Given the description of an element on the screen output the (x, y) to click on. 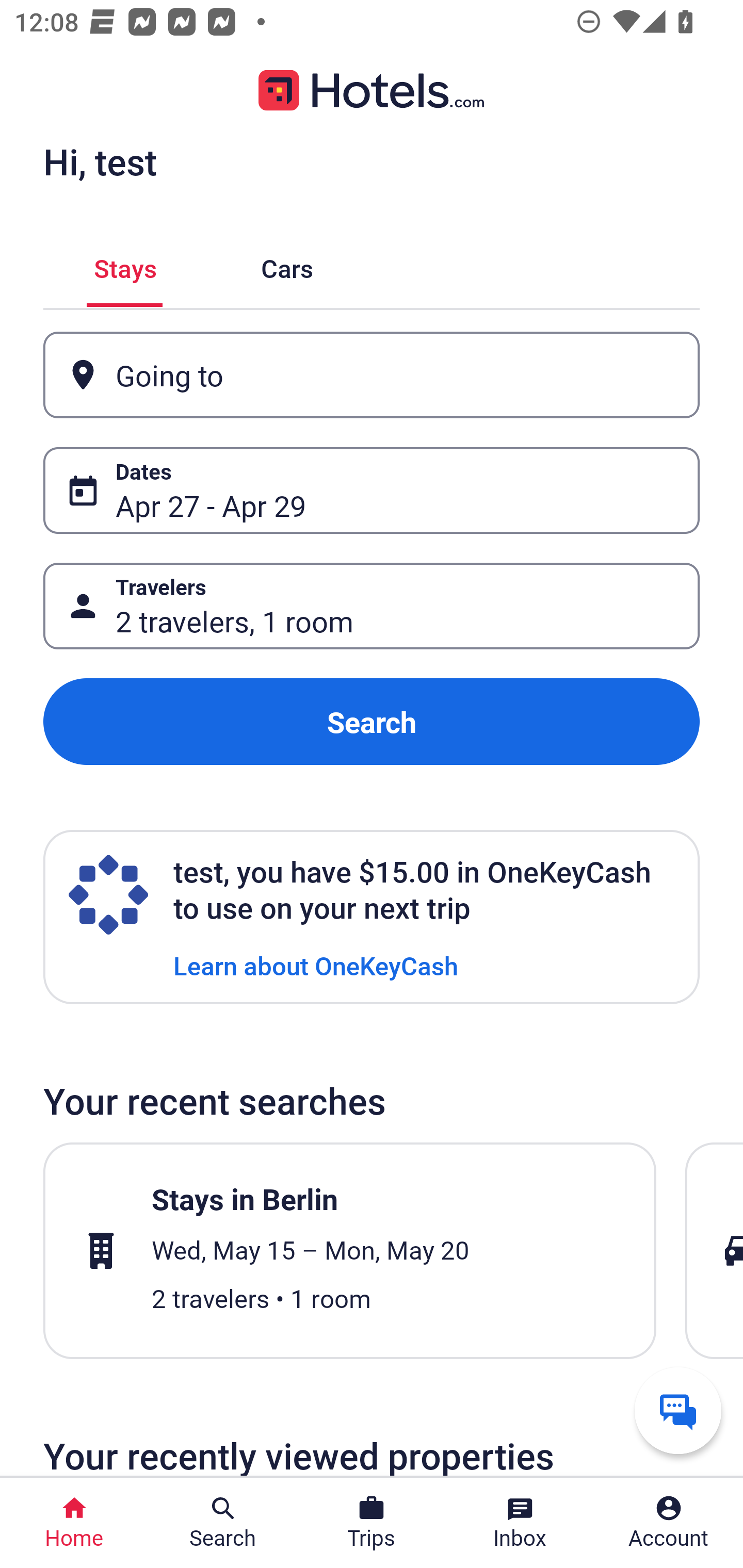
Hi, test (99, 161)
Cars (286, 265)
Going to Button (371, 375)
Dates Button Apr 27 - Apr 29 (371, 489)
Travelers Button 2 travelers, 1 room (371, 605)
Search (371, 721)
Learn about OneKeyCash Learn about OneKeyCash Link (315, 964)
Get help from a virtual agent (677, 1410)
Search Search Button (222, 1522)
Trips Trips Button (371, 1522)
Inbox Inbox Button (519, 1522)
Account Profile. Button (668, 1522)
